Given the description of an element on the screen output the (x, y) to click on. 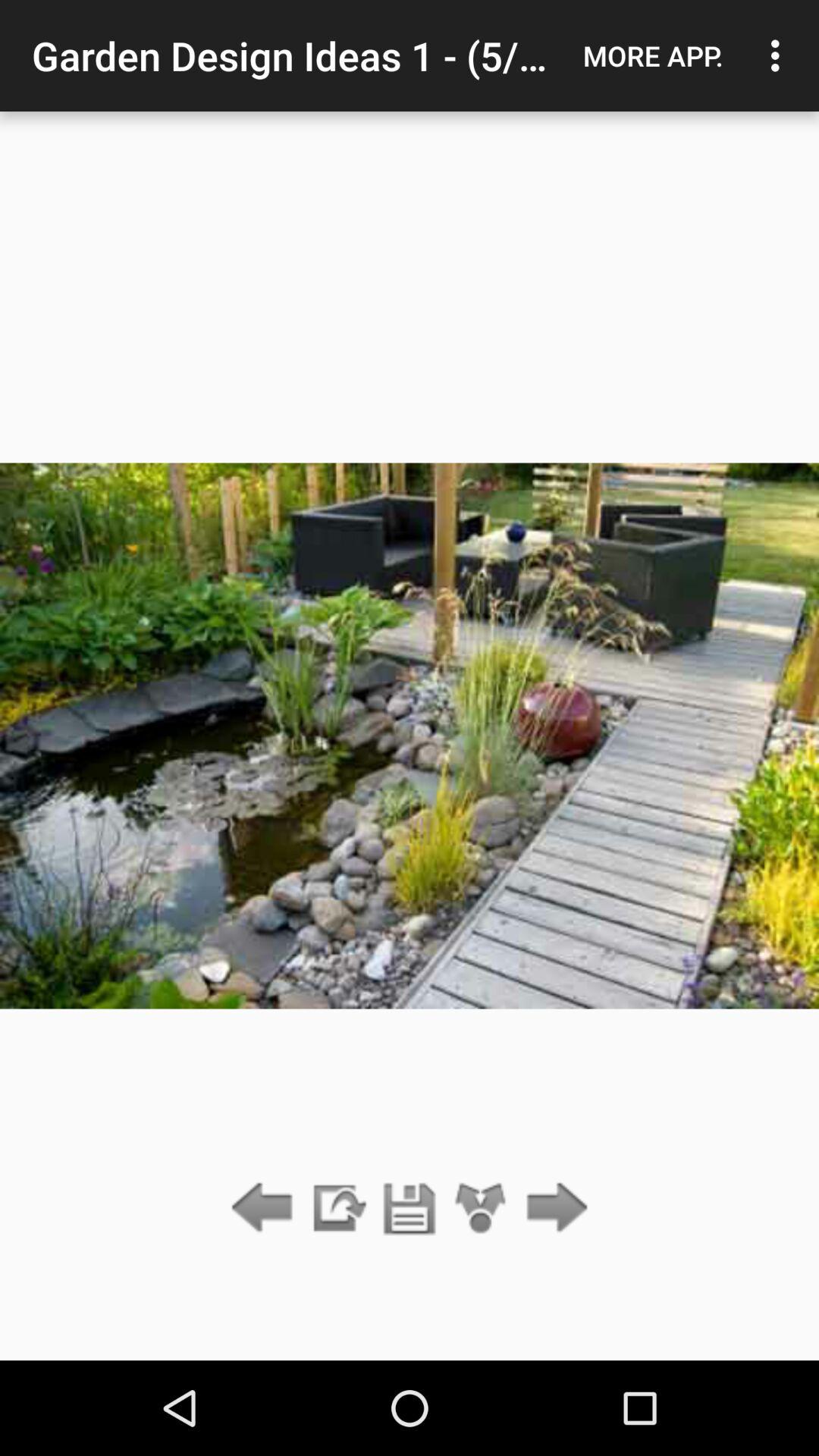
save (409, 1208)
